Given the description of an element on the screen output the (x, y) to click on. 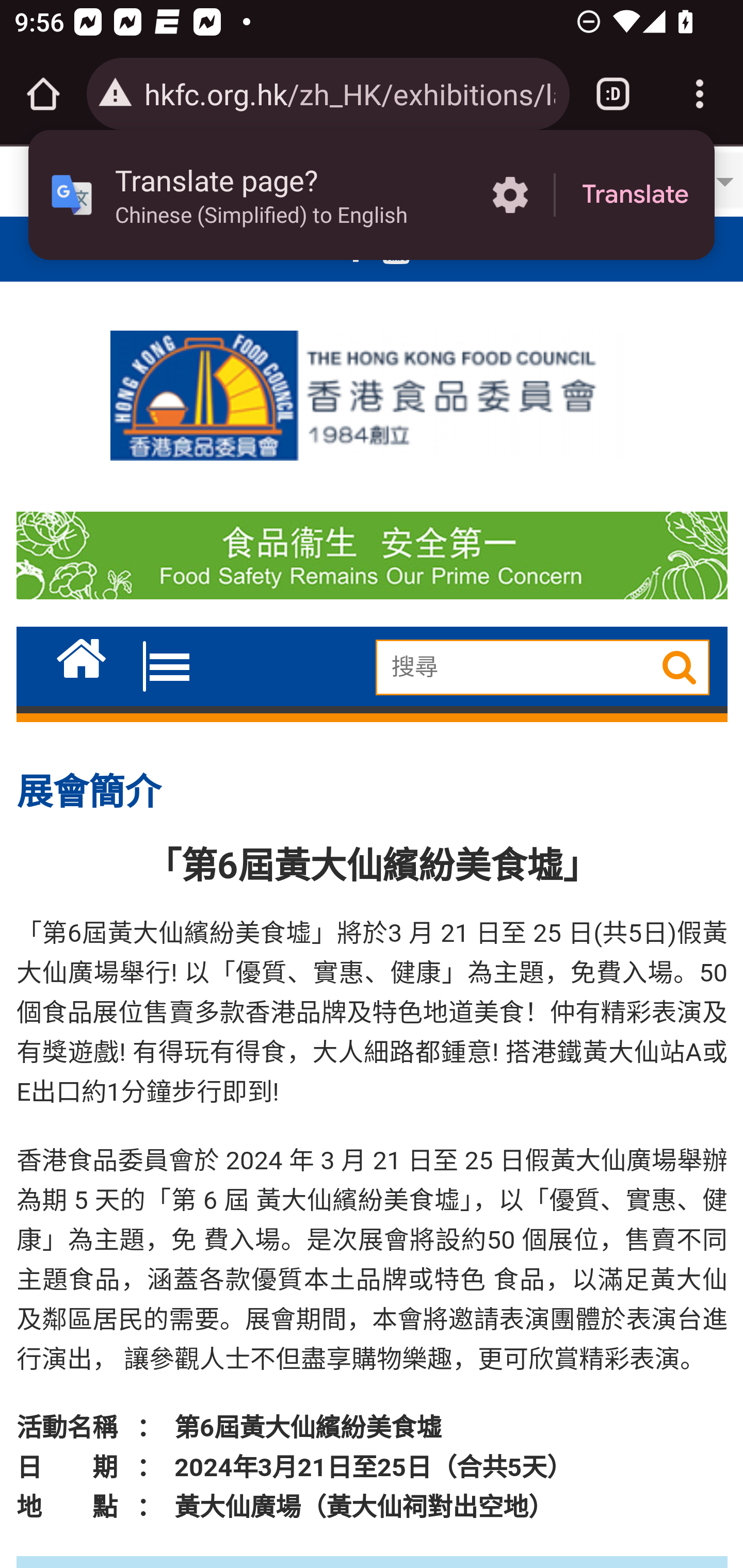
Open the home page (43, 93)
Your connection to this site is not secure (115, 93)
Switch or close tabs (612, 93)
Customize and control Google Chrome (699, 93)
Translate (634, 195)
More options in the Translate page? (509, 195)
香港食品委員會 – THE HONG KONG FOOD COUNCIL (372, 390)
TopBanner-728x90 (371, 558)
 (81, 654)
 (674, 667)
